Given the description of an element on the screen output the (x, y) to click on. 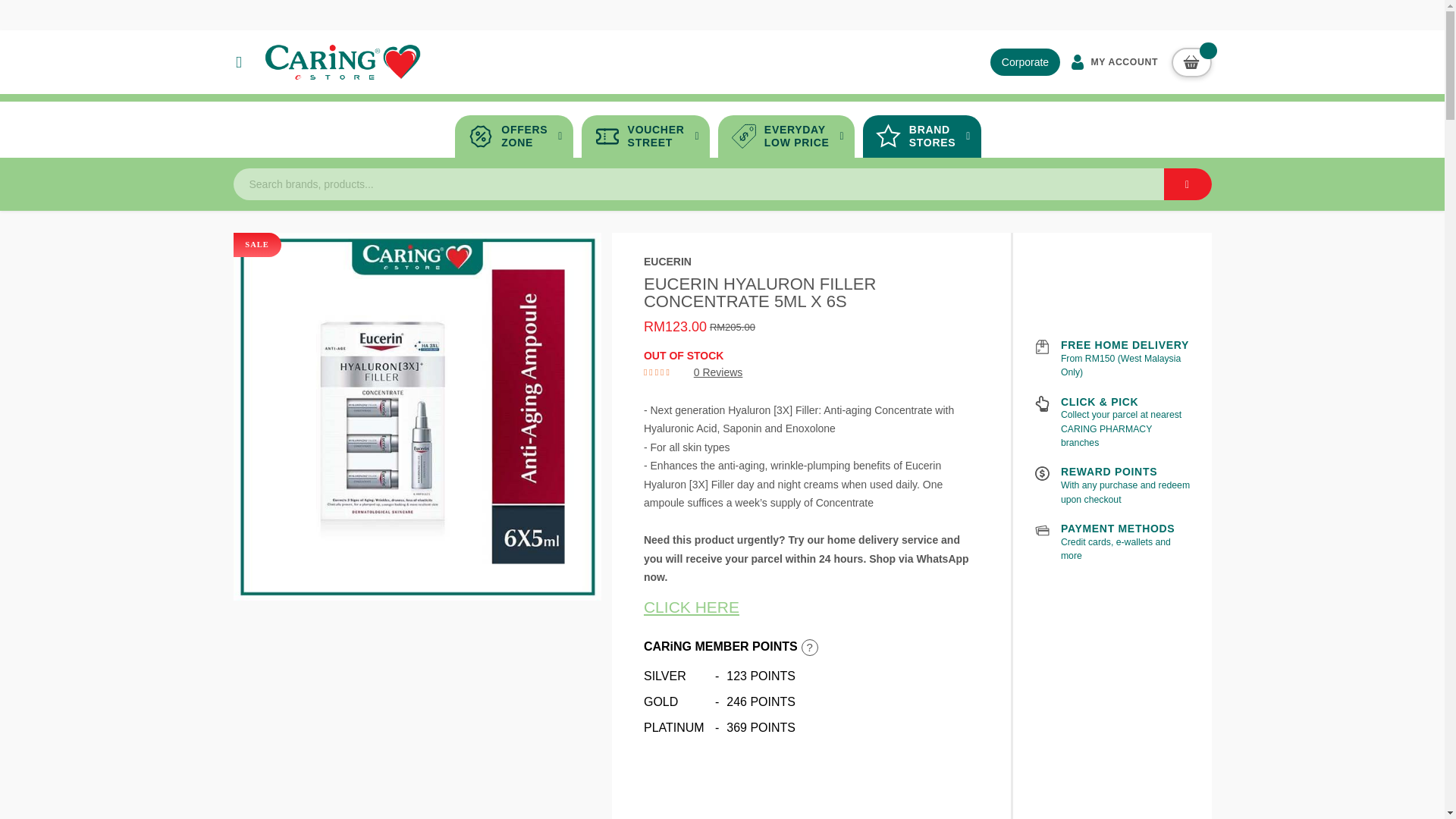
Corporate (785, 136)
MY ACCOUNT (1024, 62)
Search (645, 136)
MY CART (513, 136)
Availability (1112, 61)
